Given the description of an element on the screen output the (x, y) to click on. 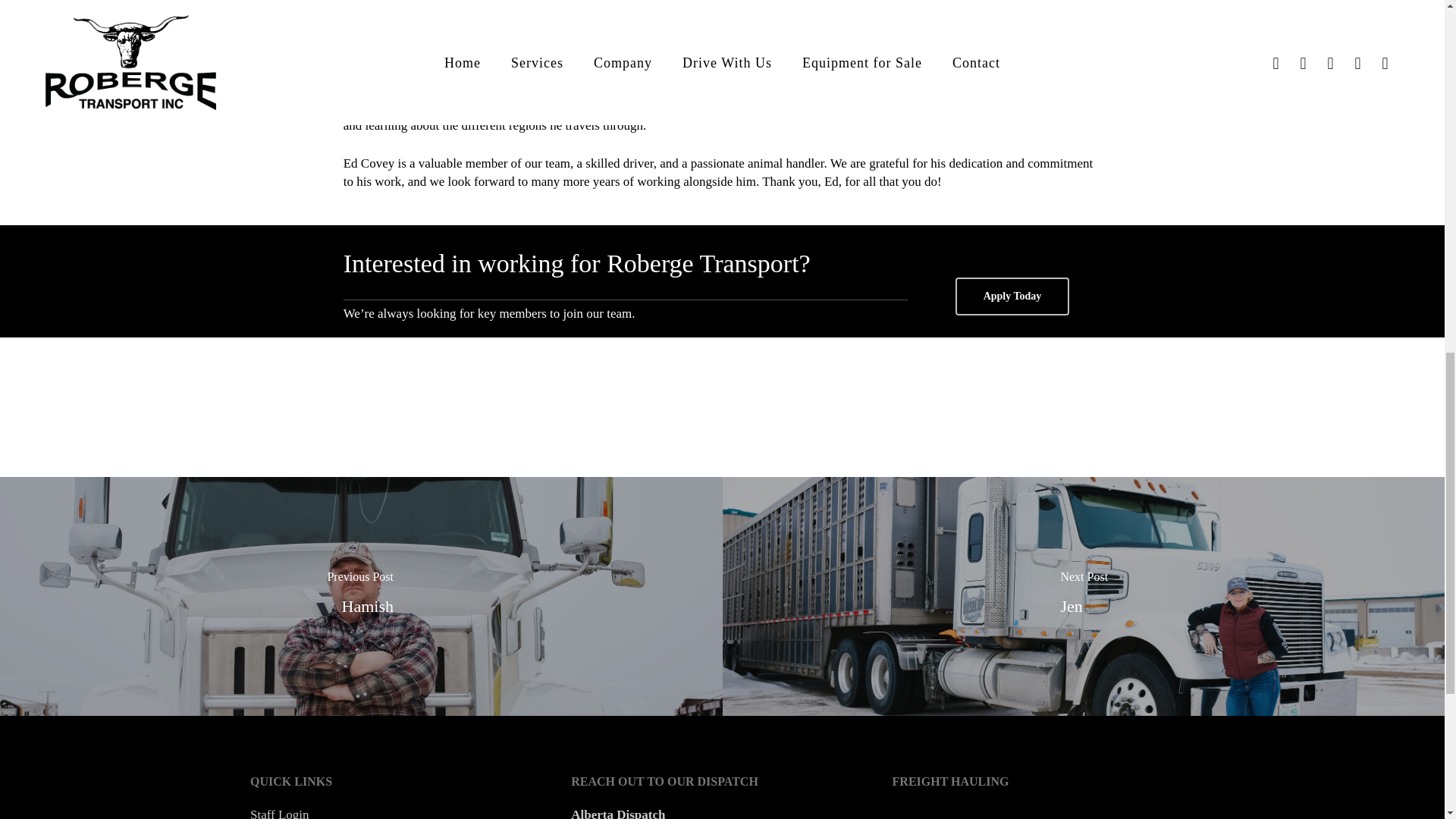
Staff Login (279, 812)
Apply Today (1012, 296)
